Given the description of an element on the screen output the (x, y) to click on. 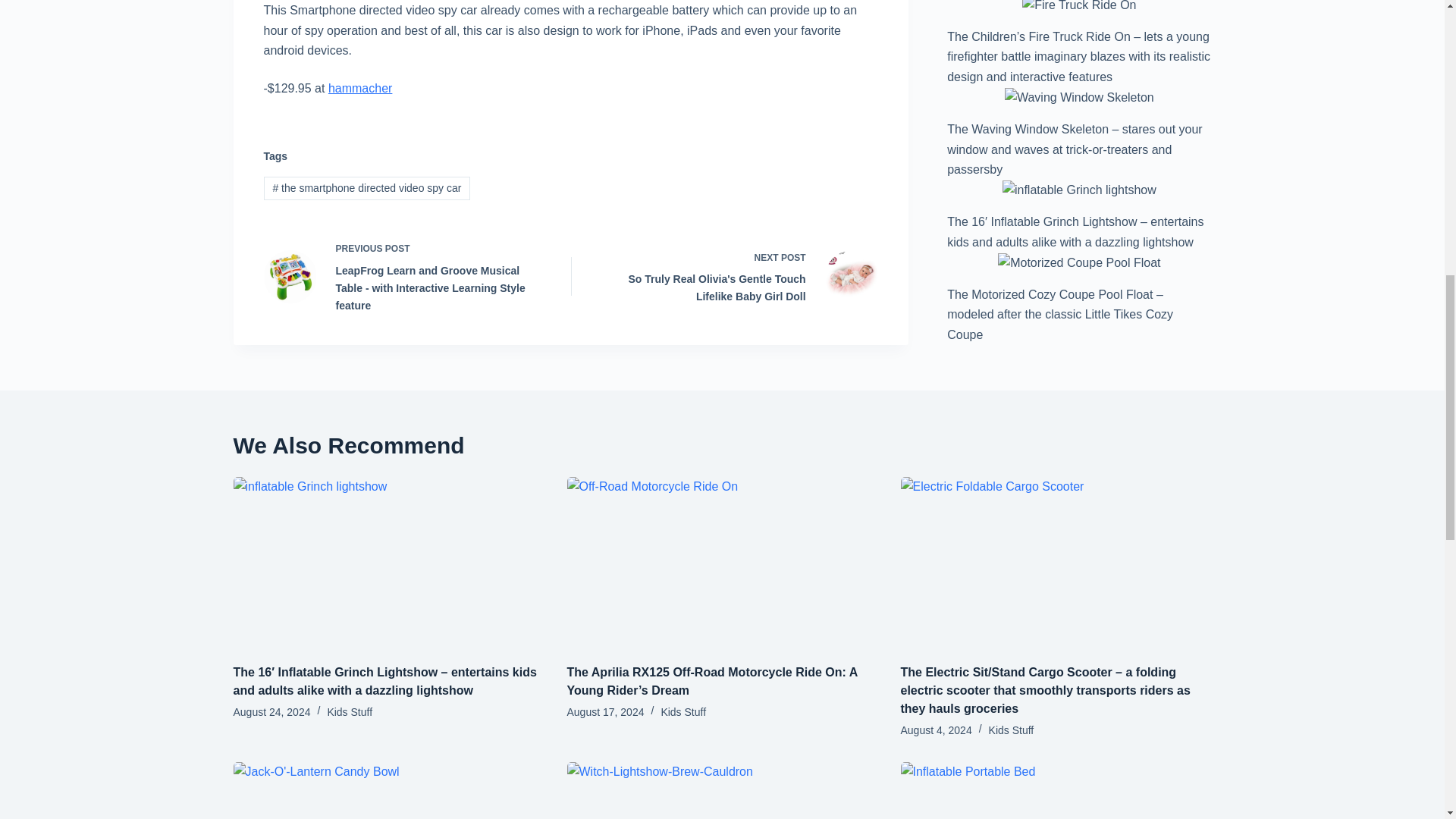
hammacher (360, 88)
Kids Stuff (349, 711)
Kids Stuff (1010, 729)
Kids Stuff (683, 711)
The Smartphone Directed Video Spy Car (360, 88)
